Given the description of an element on the screen output the (x, y) to click on. 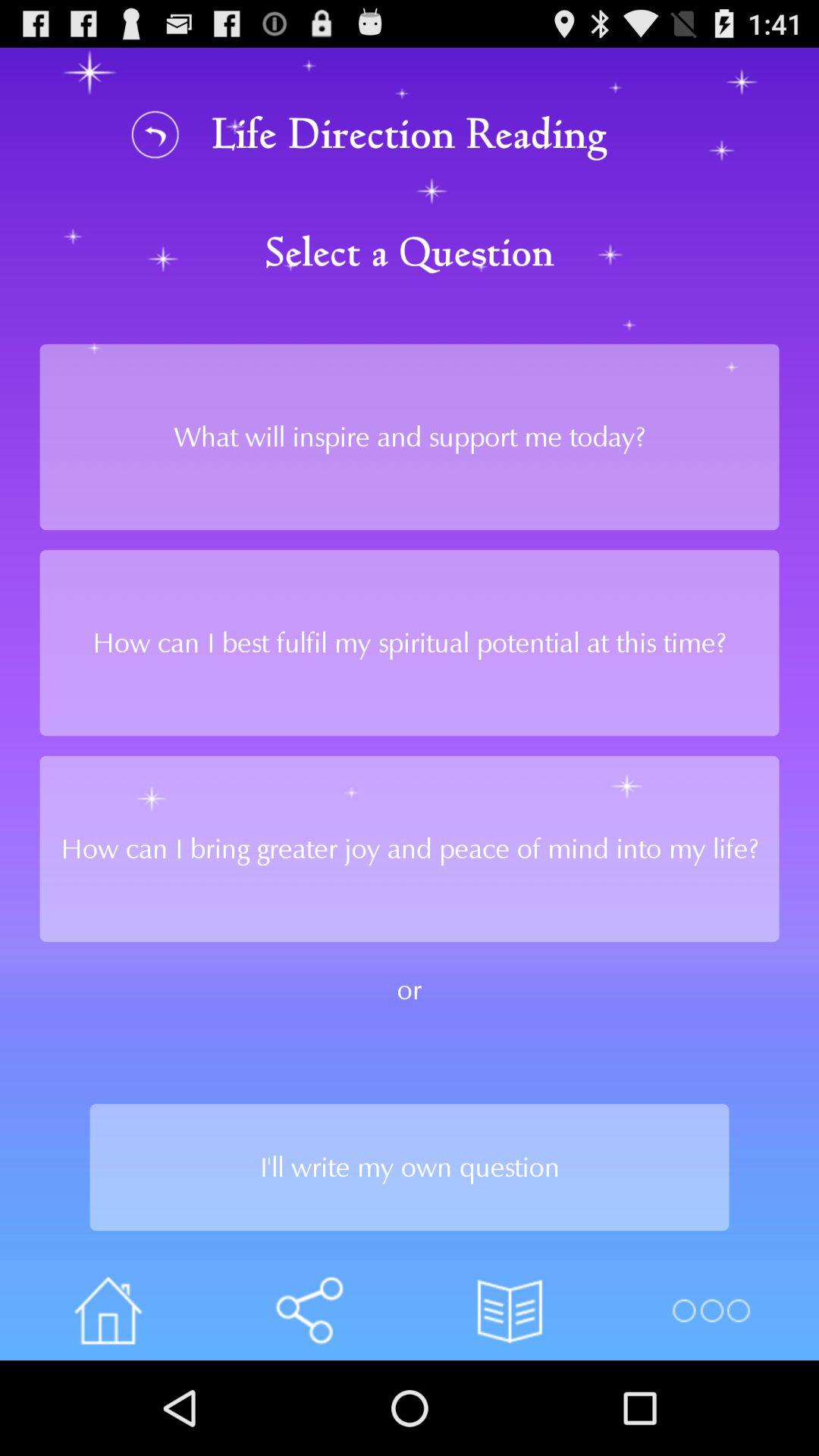
go to refresh (155, 133)
